Given the description of an element on the screen output the (x, y) to click on. 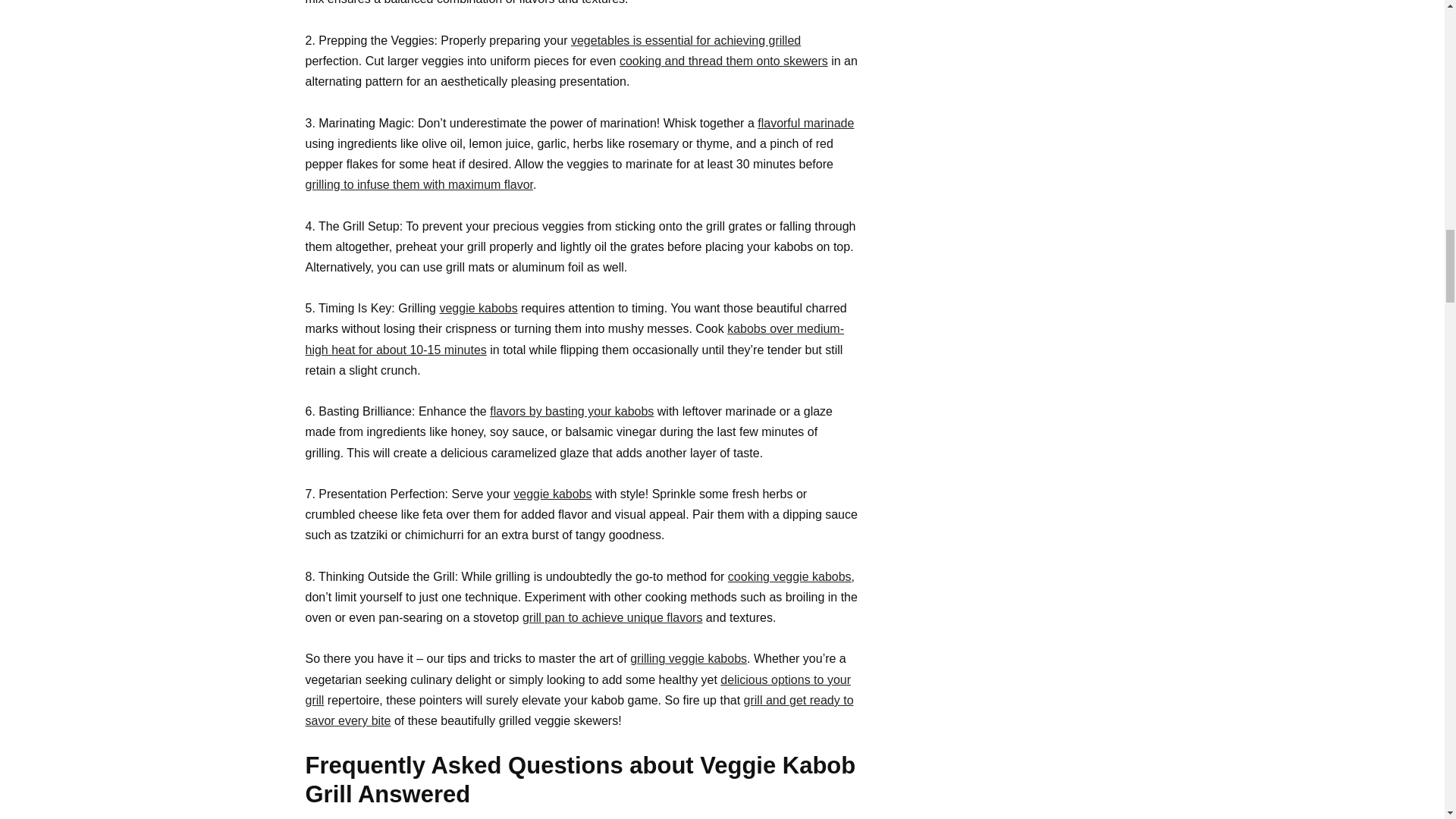
cooking and thread them onto skewers (724, 60)
vegetables is essential for achieving grilled (685, 40)
